Given the description of an element on the screen output the (x, y) to click on. 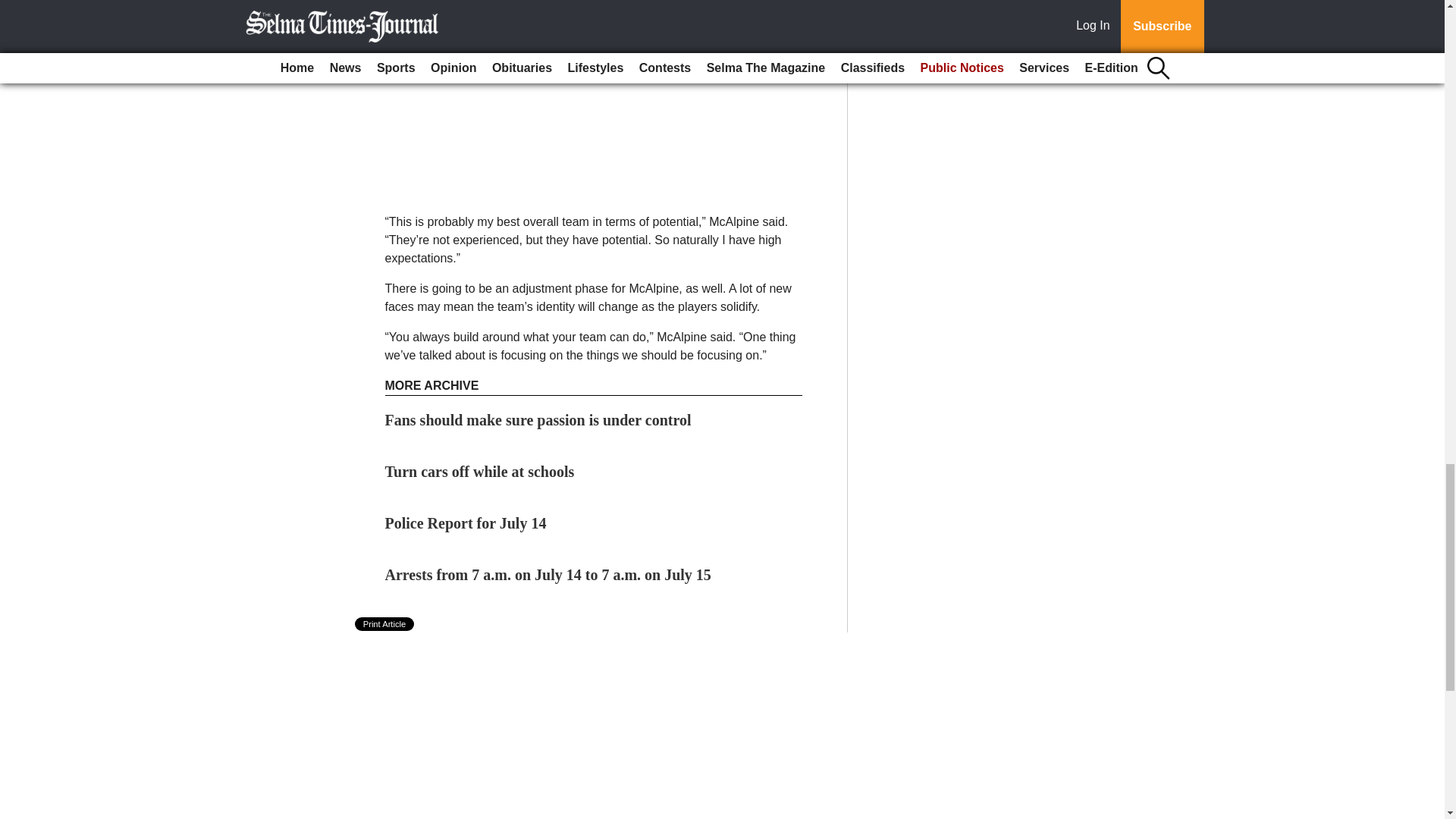
Turn cars off while at schools (480, 471)
Print Article (384, 623)
Police Report for July 14 (466, 523)
Police Report for July 14 (466, 523)
Turn cars off while at schools (480, 471)
Fans should make sure passion is under control (538, 419)
Fans should make sure passion is under control (538, 419)
Arrests from 7 a.m. on July 14 to 7 a.m. on July 15 (548, 574)
Arrests from 7 a.m. on July 14 to 7 a.m. on July 15 (548, 574)
